Given the description of an element on the screen output the (x, y) to click on. 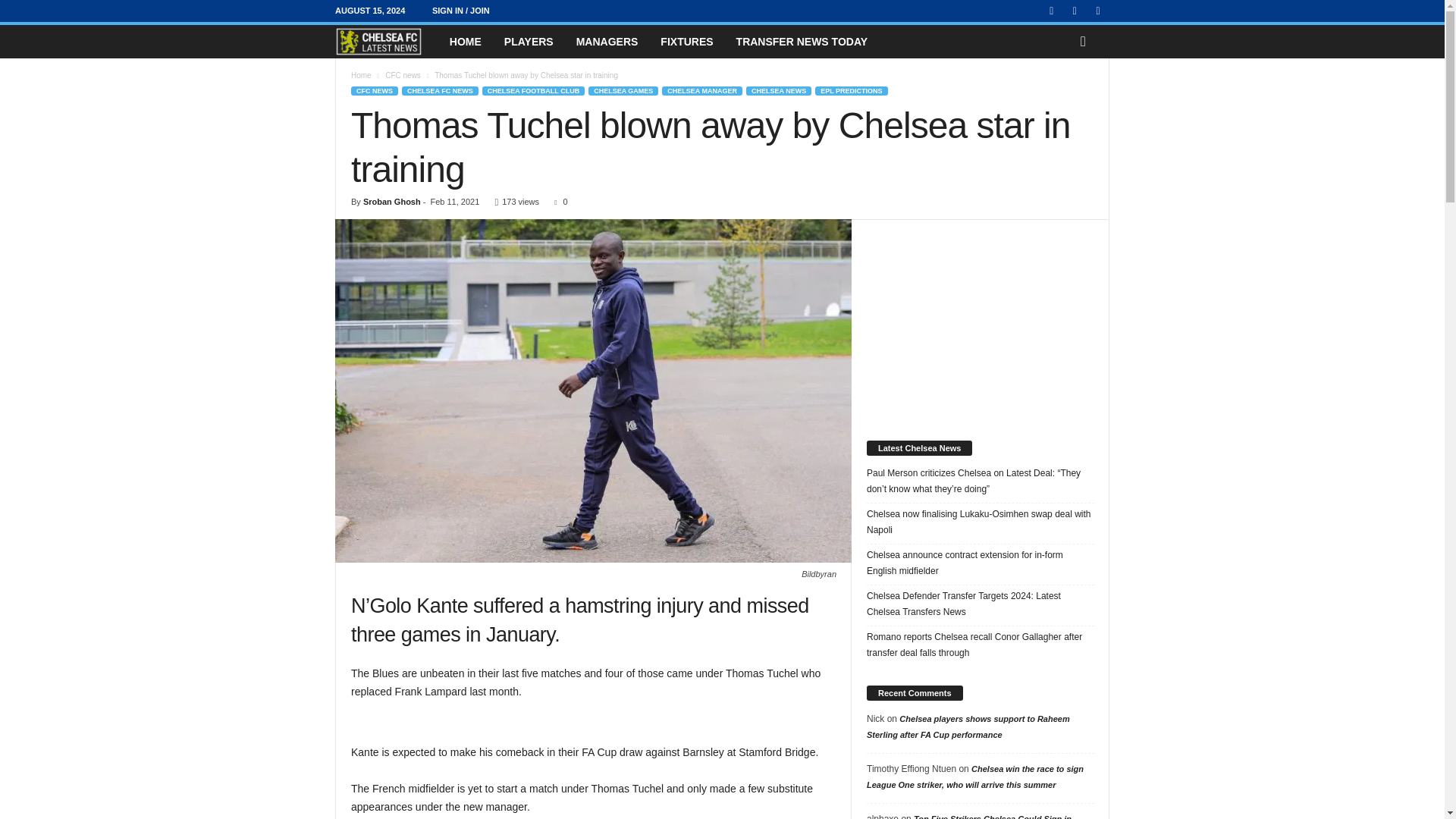
PLAYERS (528, 41)
Chelsea FC Latest News .com (386, 41)
HOME (465, 41)
